Given the description of an element on the screen output the (x, y) to click on. 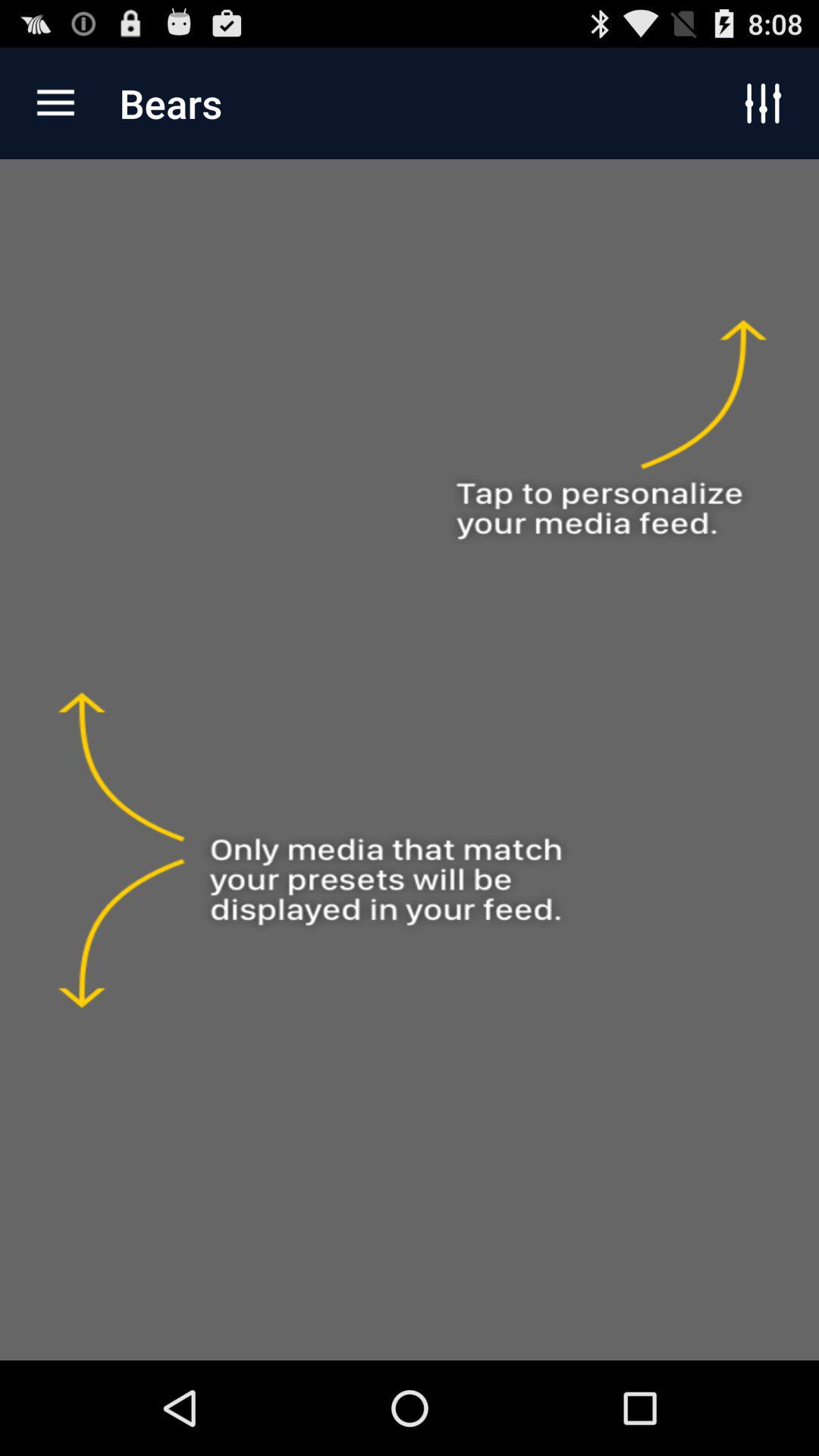
change feed on bears (409, 759)
